Given the description of an element on the screen output the (x, y) to click on. 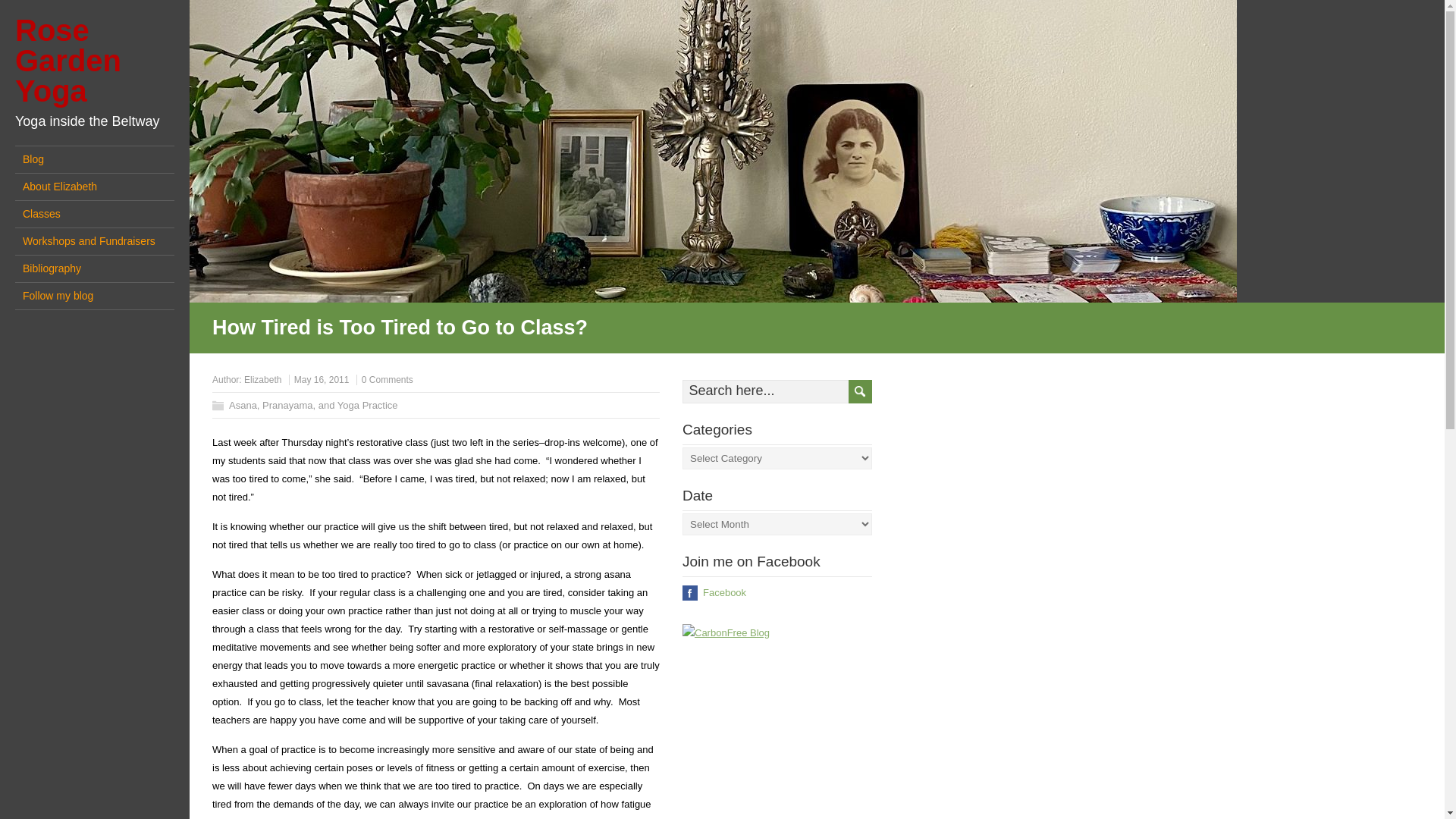
Blog (94, 159)
Follow my blog (94, 295)
Classes (94, 213)
0 Comments (387, 379)
Workshops and Fundraisers (94, 241)
Elizabeth (262, 379)
About Elizabeth (94, 186)
Rose Garden Yoga (67, 60)
Bibliography (94, 268)
CarbonFree Blog (726, 632)
